Given the description of an element on the screen output the (x, y) to click on. 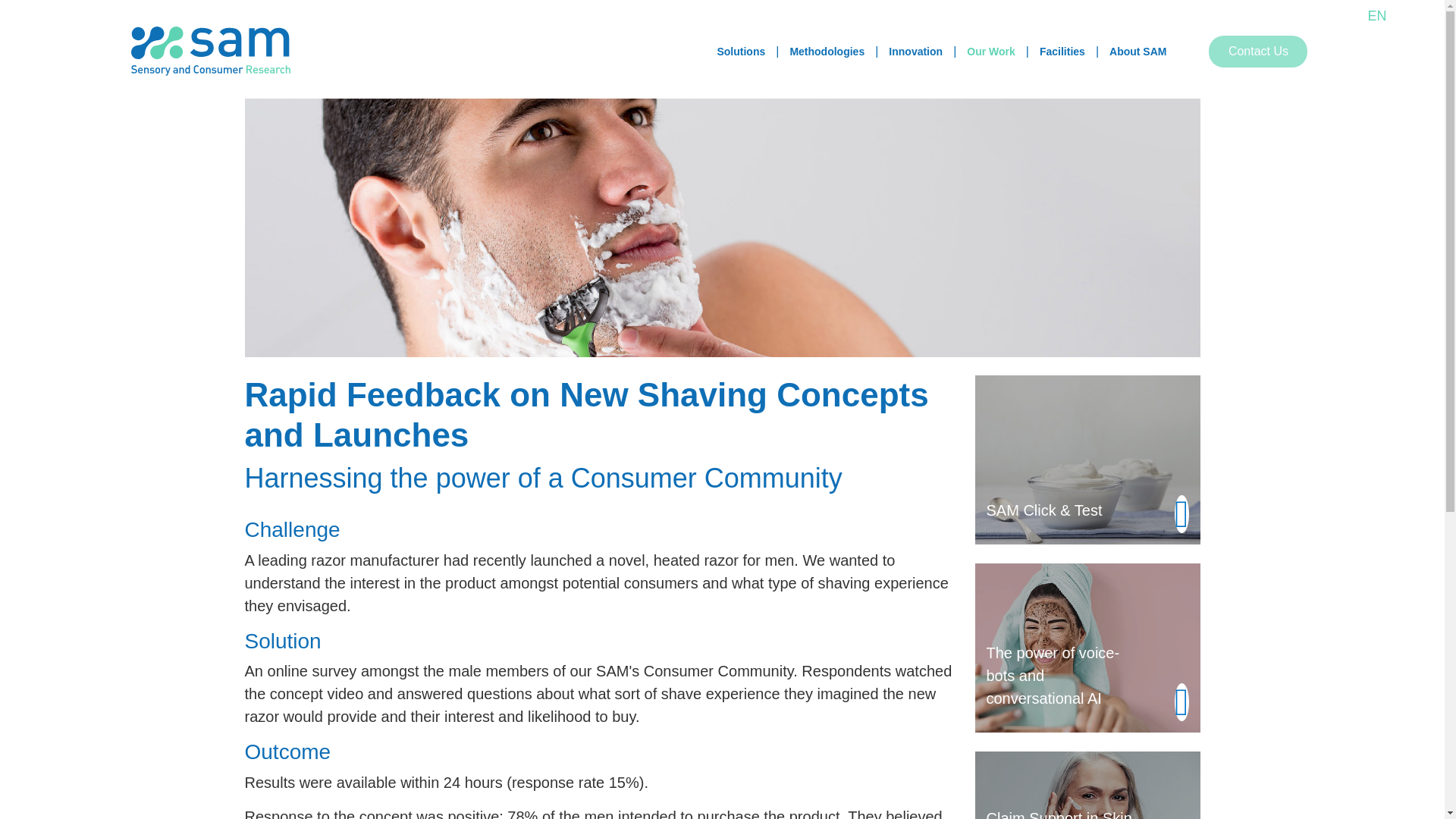
Methodologies (826, 51)
Solutions (741, 51)
Innovation (915, 51)
About SAM (1137, 51)
Innovation (915, 51)
About SAM (1137, 51)
Facilities (1062, 51)
Solutions (741, 51)
Our Work (991, 51)
Contact Us (1257, 51)
